Given the description of an element on the screen output the (x, y) to click on. 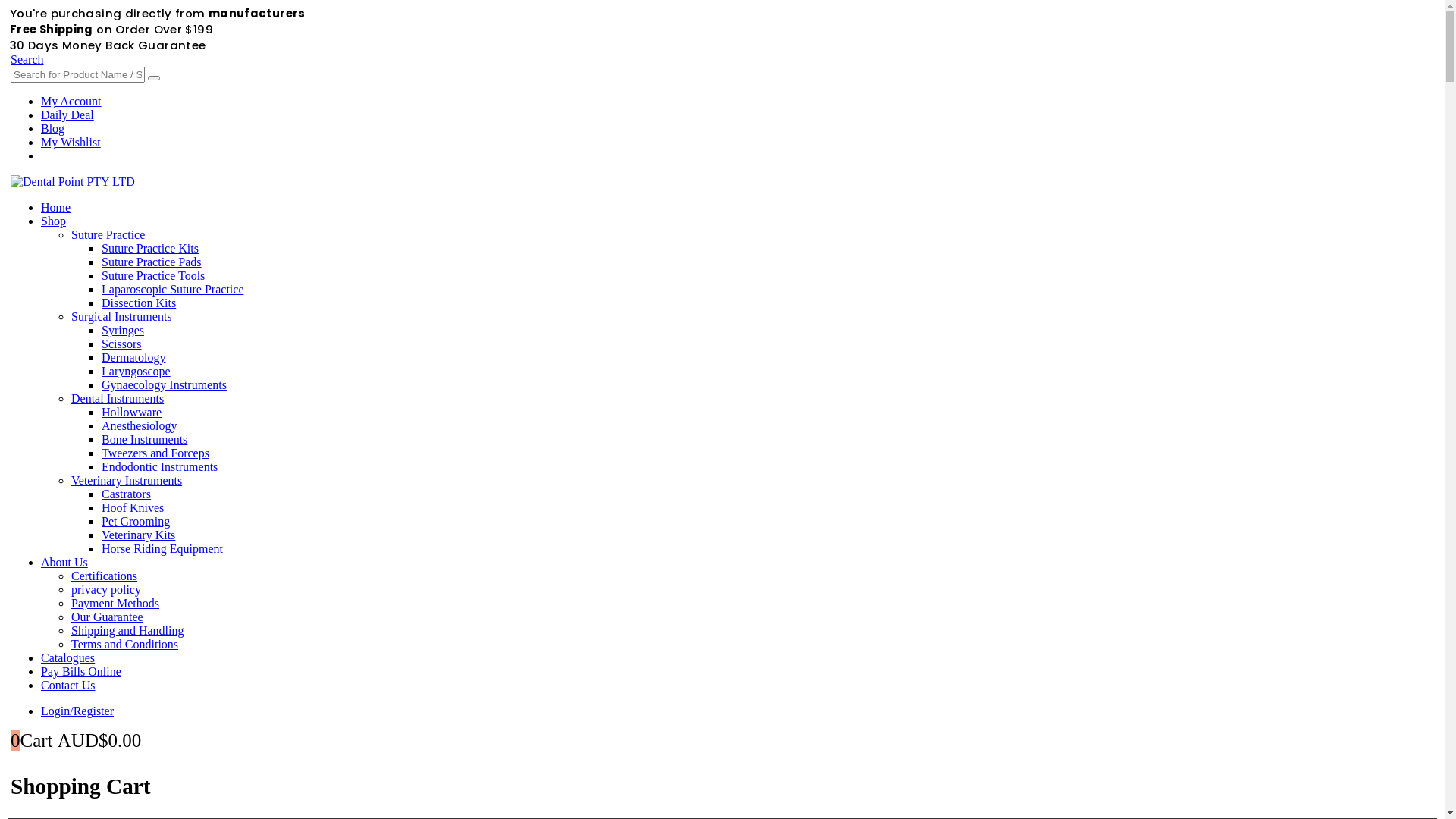
Veterinary Instruments Element type: text (126, 479)
Search Element type: text (26, 59)
Veterinary Kits Element type: text (138, 534)
Syringes Element type: text (122, 329)
Our Guarantee Element type: text (107, 616)
Endodontic Instruments Element type: text (159, 466)
Shipping and Handling Element type: text (127, 630)
Suture Practice Element type: text (107, 234)
Tweezers and Forceps Element type: text (155, 452)
Hoof Knives Element type: text (132, 507)
Surgical Instruments Element type: text (121, 316)
Suture Practice Kits Element type: text (149, 247)
Castrators Element type: text (125, 493)
Daily Deal Element type: text (67, 114)
Dermatology Element type: text (133, 357)
Hollowware Element type: text (131, 411)
Anesthesiology Element type: text (139, 425)
Certifications Element type: text (104, 575)
Scissors Element type: text (121, 343)
Login/Register Element type: text (76, 710)
Suture Practice Tools Element type: text (152, 275)
Horse Riding Equipment Element type: text (161, 548)
My Wishlist Element type: text (70, 141)
My Account Element type: text (70, 100)
Dental Instruments Element type: text (117, 398)
Shop Element type: text (52, 220)
privacy policy Element type: text (106, 589)
Pet Grooming Element type: text (135, 520)
Home Element type: text (55, 206)
Dissection Kits Element type: text (138, 302)
Suture Practice Pads Element type: text (151, 261)
Contact Us Element type: text (67, 684)
Laryngoscope Element type: text (135, 370)
Payment Methods Element type: text (115, 602)
Catalogues Element type: text (67, 657)
Bone Instruments Element type: text (144, 439)
About Us Element type: text (63, 561)
Pay Bills Online Element type: text (80, 671)
Terms and Conditions Element type: text (124, 643)
Search Element type: hover (153, 77)
Blog Element type: text (52, 128)
Laparoscopic Suture Practice Element type: text (172, 288)
Gynaecology Instruments Element type: text (163, 384)
